Given the description of an element on the screen output the (x, y) to click on. 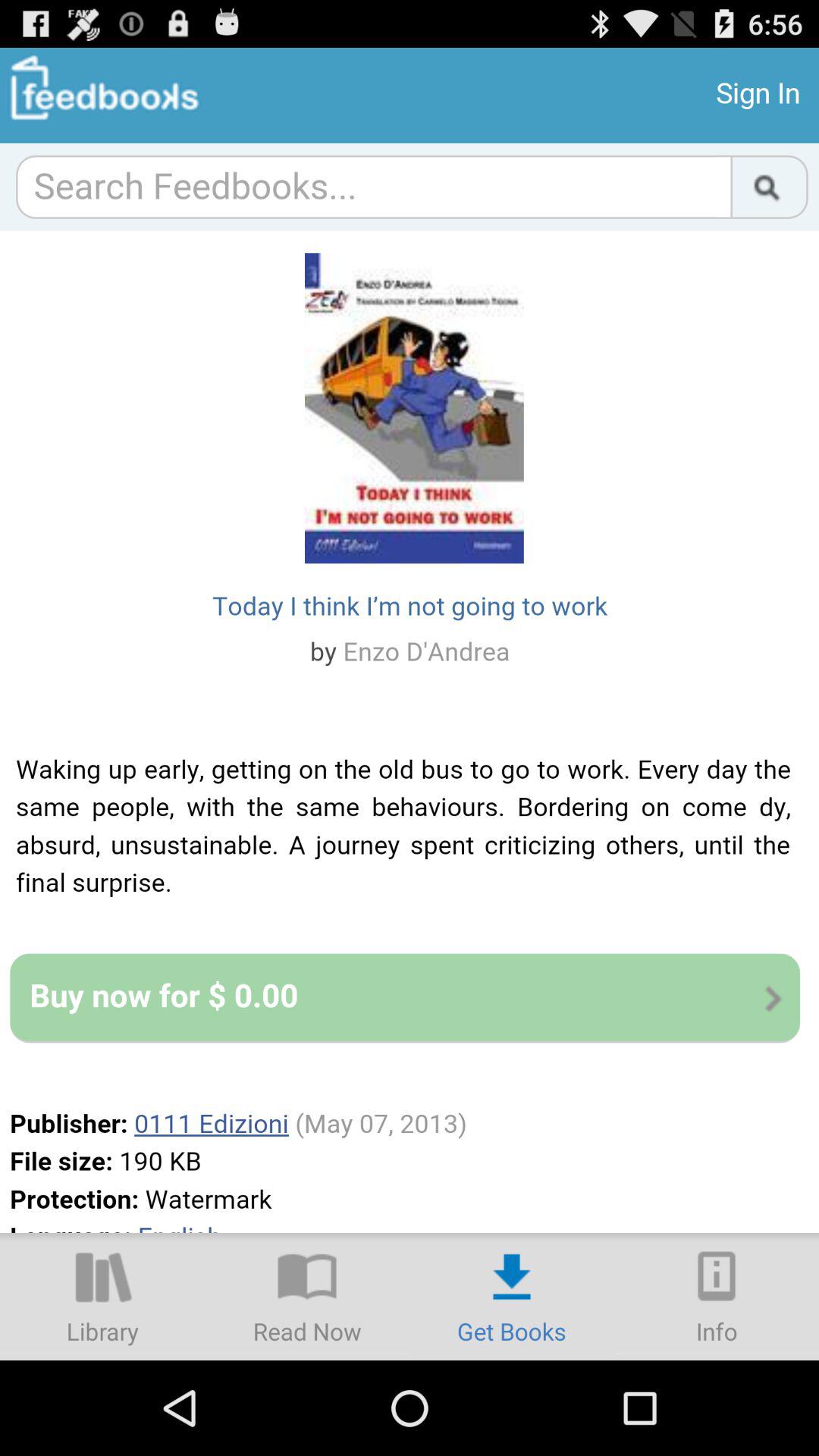
select info (716, 1296)
